Given the description of an element on the screen output the (x, y) to click on. 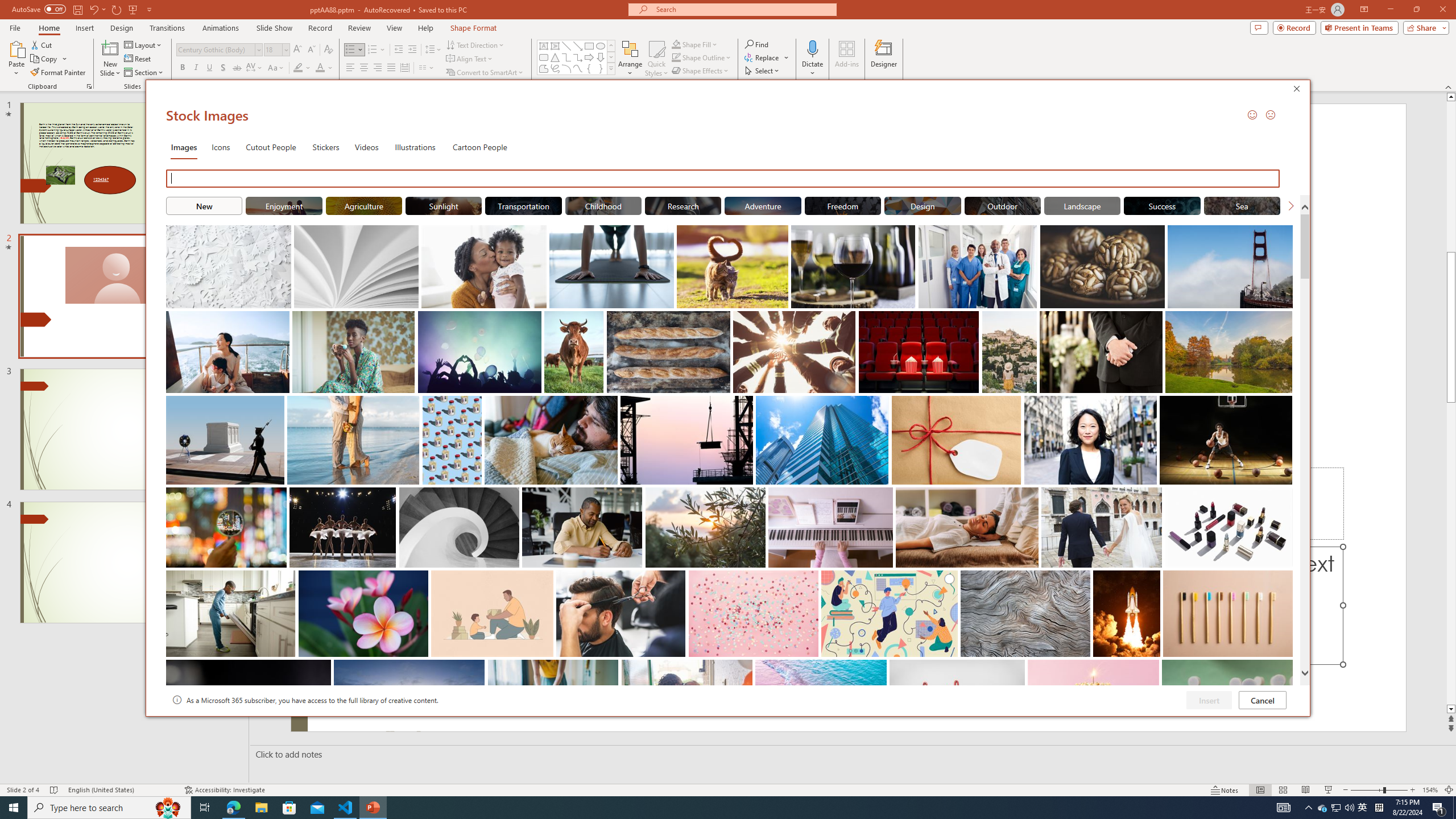
"Childhood" Stock Images. (1322, 807)
Shape Outline Teal, Accent 1 (603, 205)
